Given the description of an element on the screen output the (x, y) to click on. 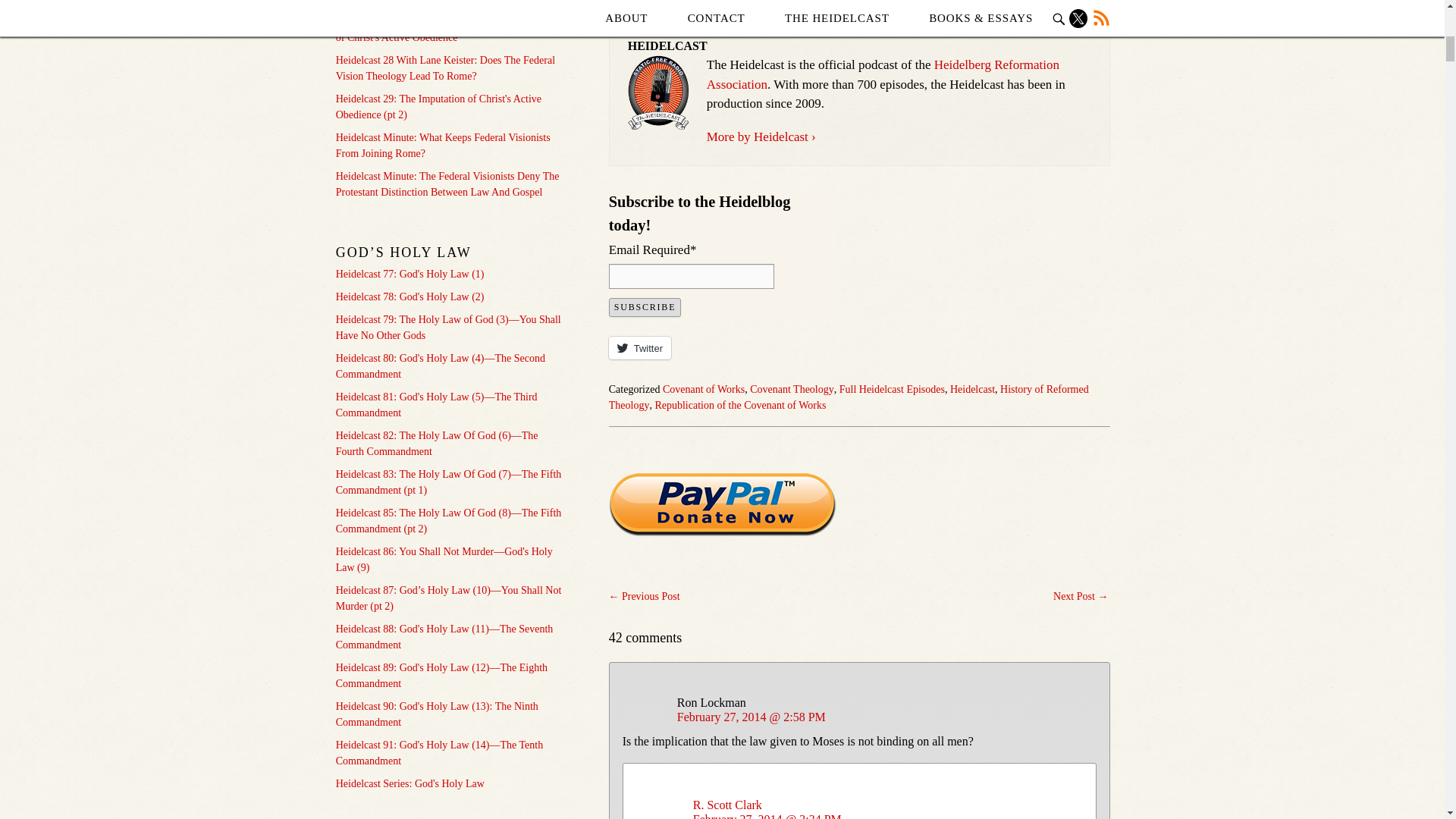
Covenant Theology (791, 389)
History of Reformed Theology (848, 397)
Republication of the Covenant of Works (739, 405)
Heidelberg Reformation Association (882, 74)
Heidelcast (972, 389)
R. Scott Clark (727, 803)
Twitter (639, 347)
Click to share on Twitter (639, 347)
Covenant of Works (703, 389)
Subscribe (644, 307)
Full Heidelcast Episodes (892, 389)
Subscribe (644, 307)
Support the Heidelblog! (721, 505)
